Given the description of an element on the screen output the (x, y) to click on. 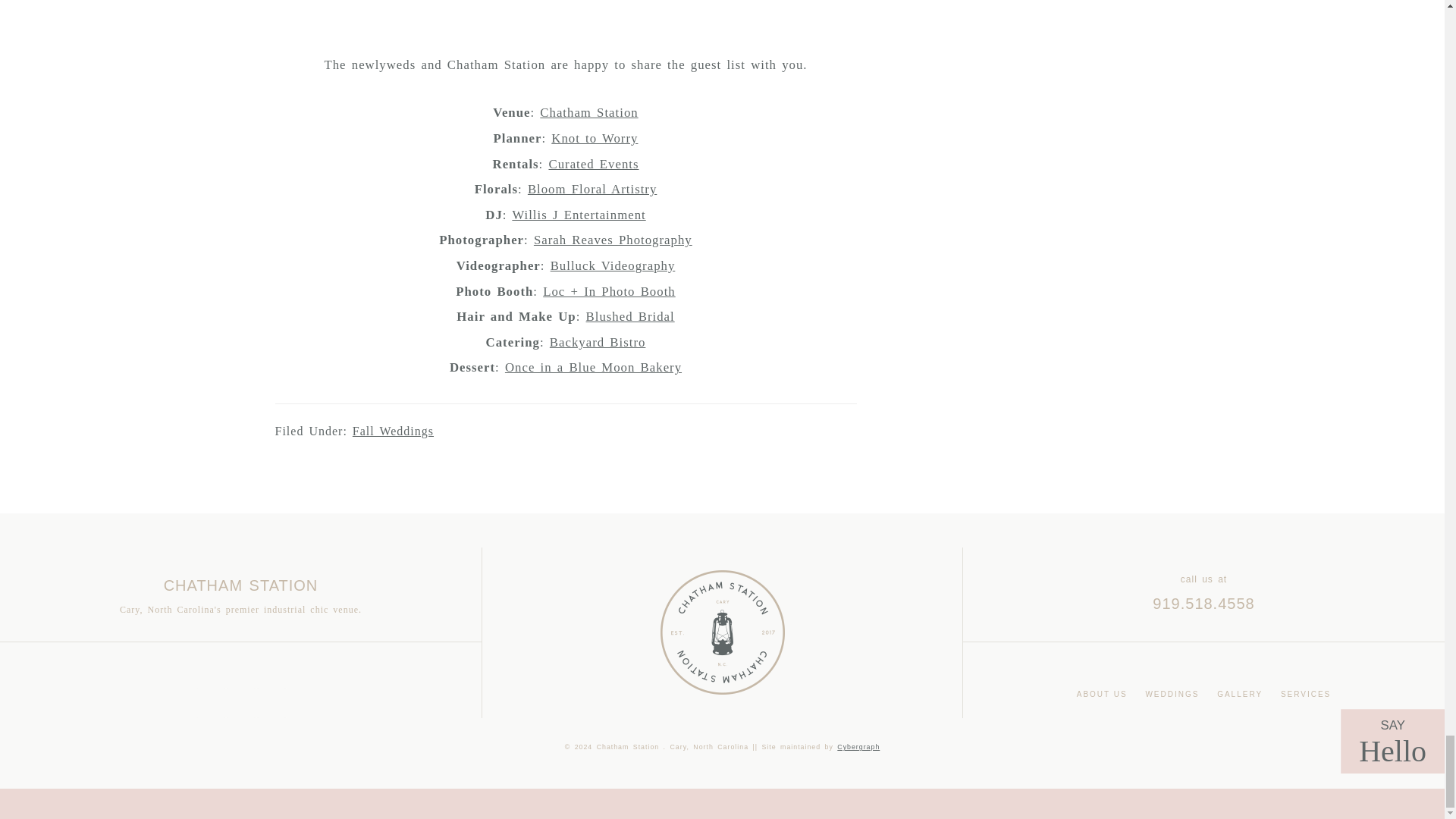
Blushed Bridal (630, 316)
Willis J Entertainment (578, 214)
Knot to Worry (594, 138)
Bulluck Videography (612, 265)
Bloom Floral Artistry (591, 188)
Backyard Bistro (598, 341)
Sarah Reaves Photography (613, 239)
Once in a Blue Moon Bakery (593, 367)
Fall Weddings (392, 431)
Curated Events (593, 164)
Chatham Station (588, 112)
